Given the description of an element on the screen output the (x, y) to click on. 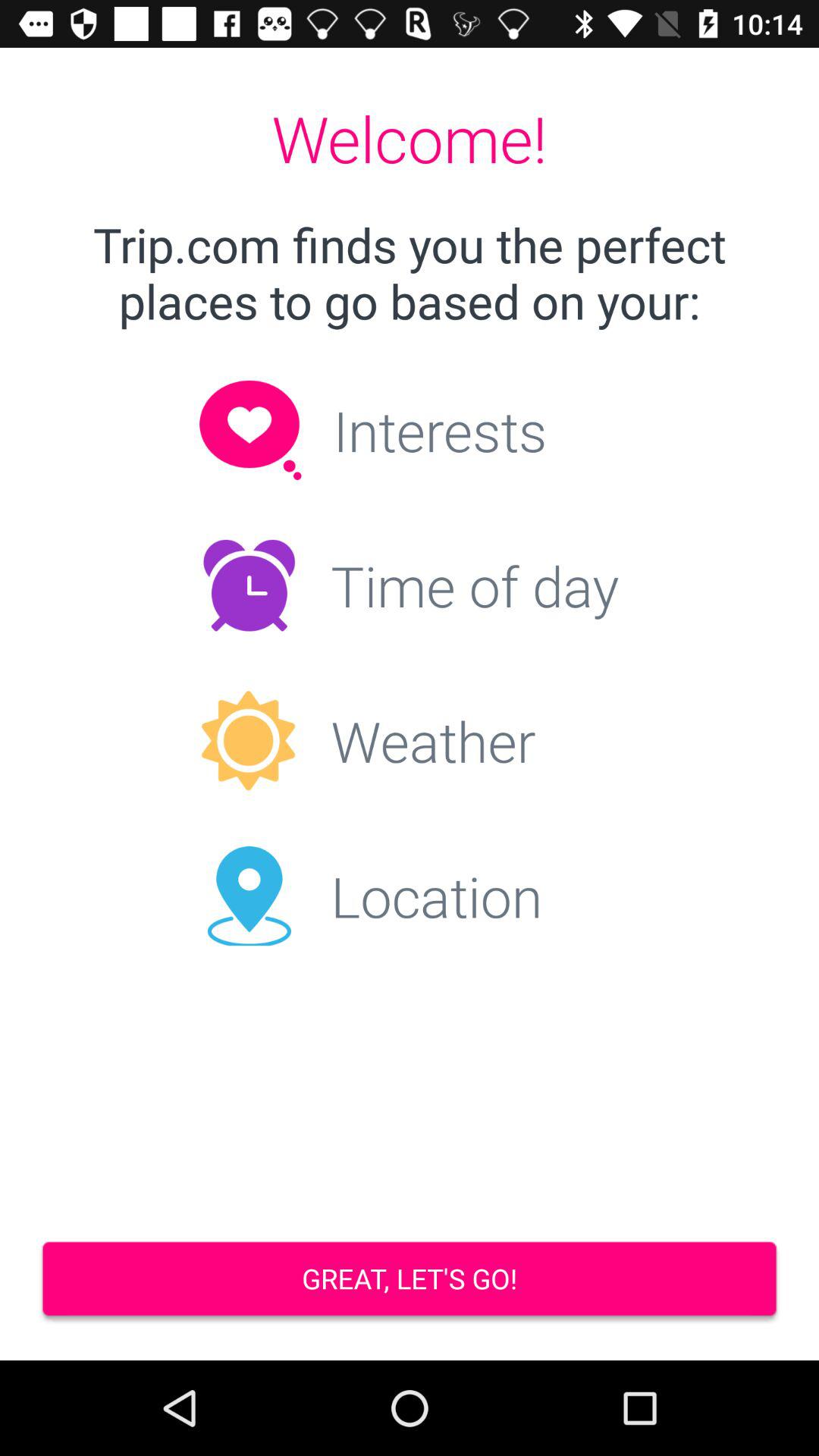
scroll to the great let s (409, 1280)
